Given the description of an element on the screen output the (x, y) to click on. 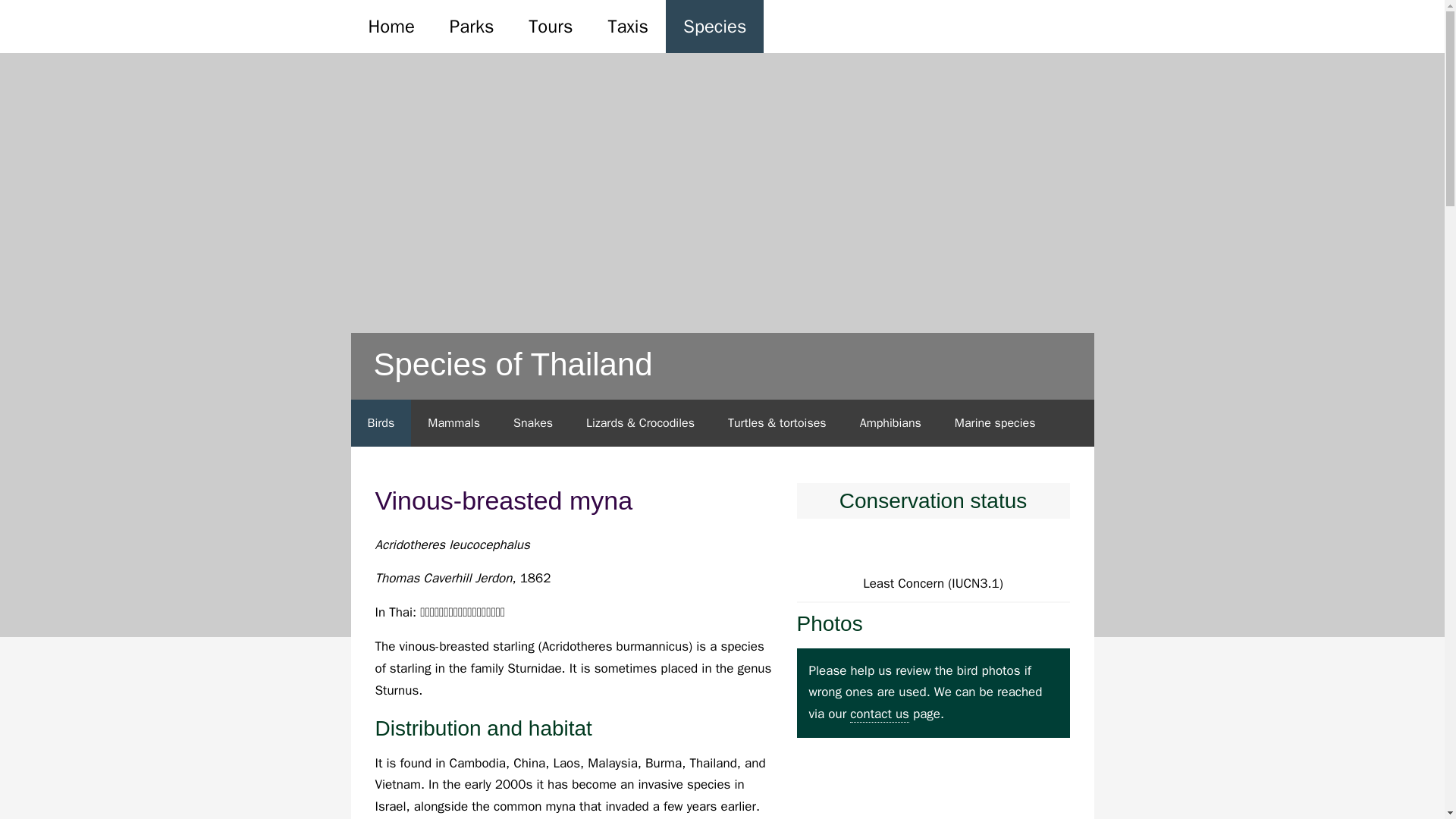
Parks (472, 26)
National parks in Thailand (152, 35)
Thai National Parks (152, 35)
Home (390, 26)
